Given the description of an element on the screen output the (x, y) to click on. 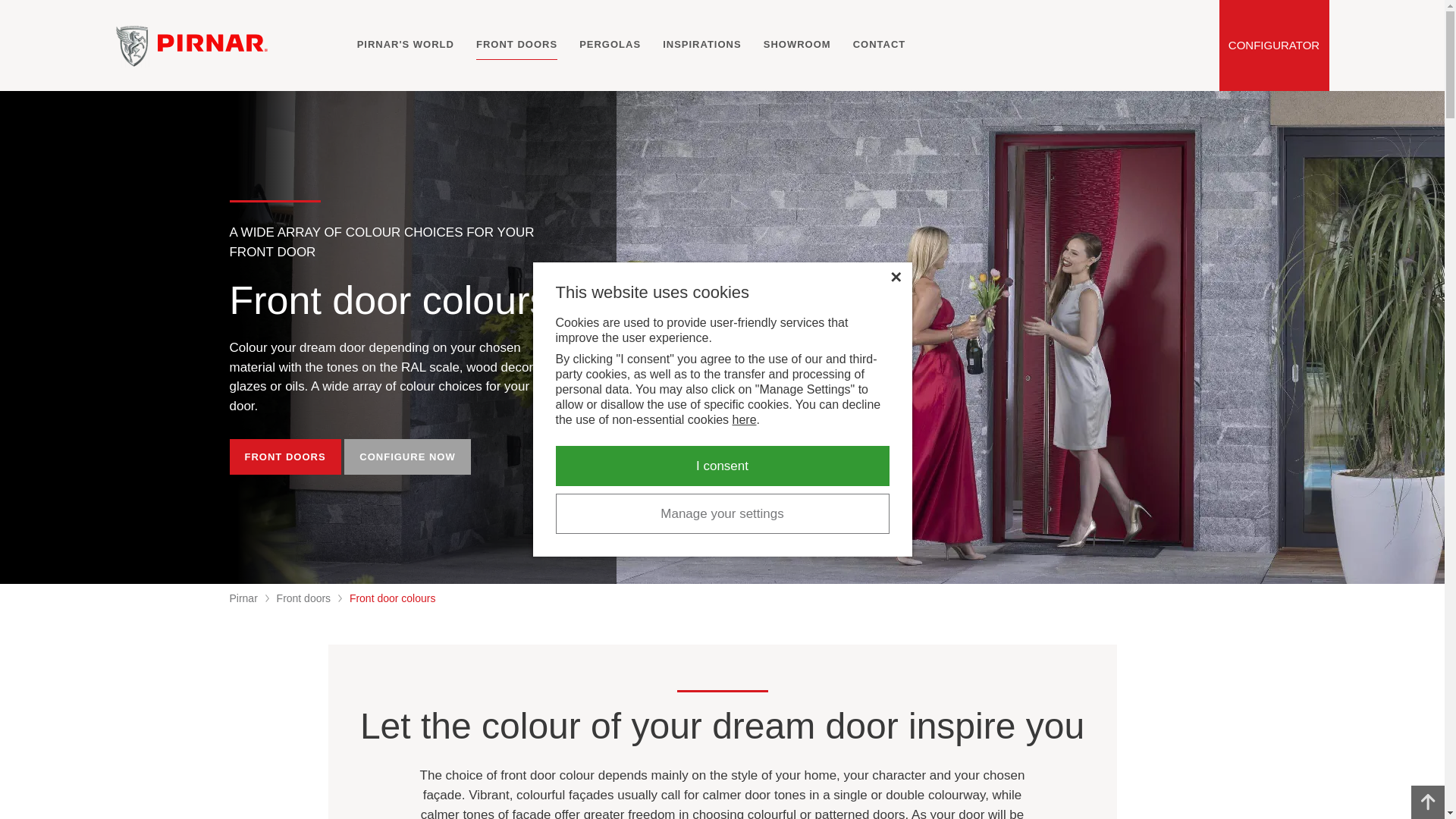
Front doors (303, 598)
FRONT DOORS (516, 44)
PIRNAR'S WORLD (405, 44)
CONTACT (879, 44)
Front door colours (392, 598)
PERGOLAS (609, 44)
INSPIRATIONS (701, 44)
Pirnar (242, 598)
SHOWROOM (796, 44)
